Given the description of an element on the screen output the (x, y) to click on. 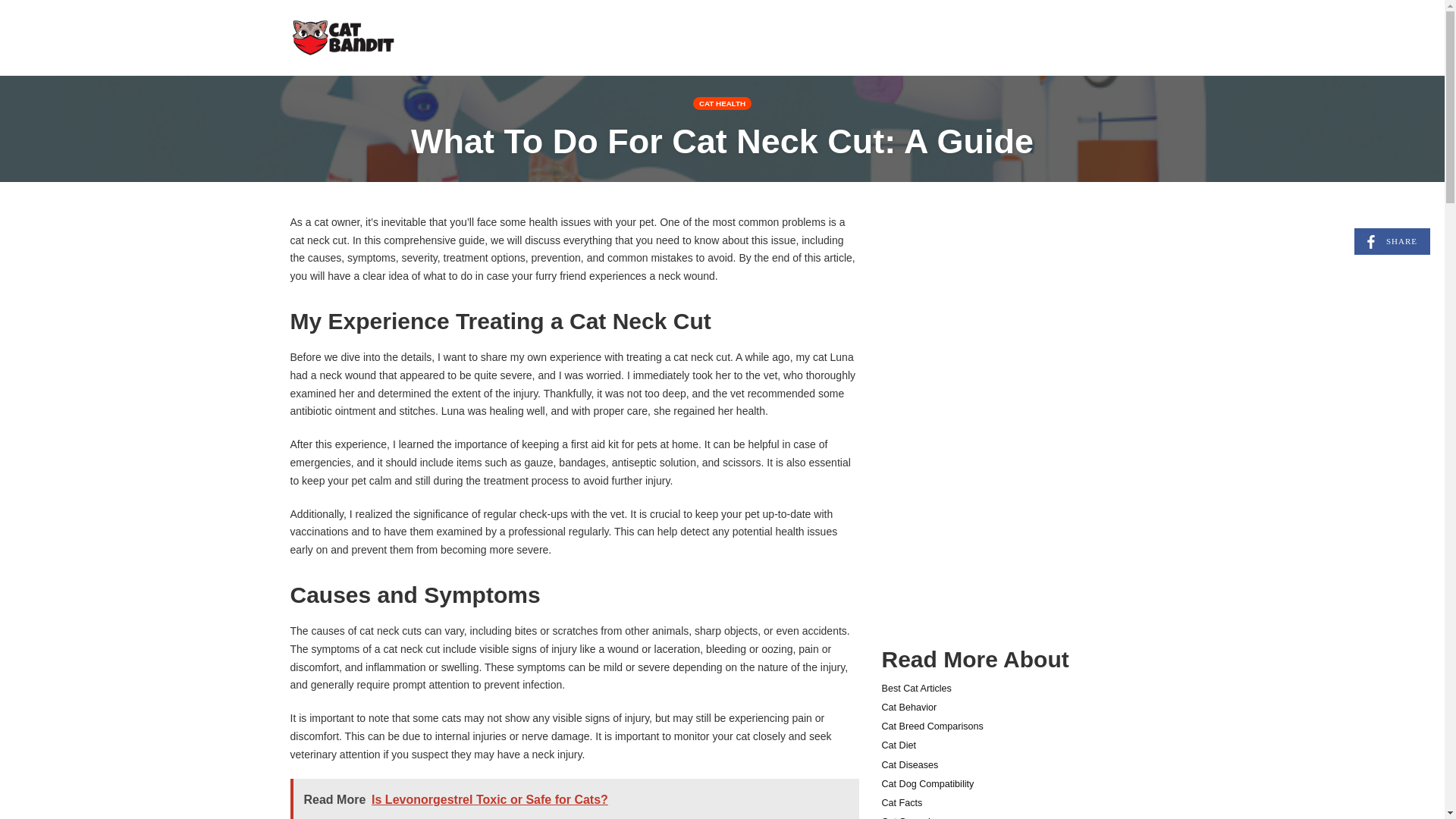
What To Do For Cat Neck Cut: A Guide (721, 141)
The Cat Bandit Blog (343, 37)
Read More  Is Levonorgestrel Toxic or Safe for Cats? (574, 798)
Cat Dog Compatibility (927, 783)
Cat Breed Comparisons (1391, 241)
CAT HEALTH (931, 726)
Cat Behavior (722, 103)
Cat Diet (908, 706)
Cat Grooming (897, 745)
Cat Facts (910, 817)
Best Cat Articles (900, 802)
Cat Diseases (915, 688)
